Given the description of an element on the screen output the (x, y) to click on. 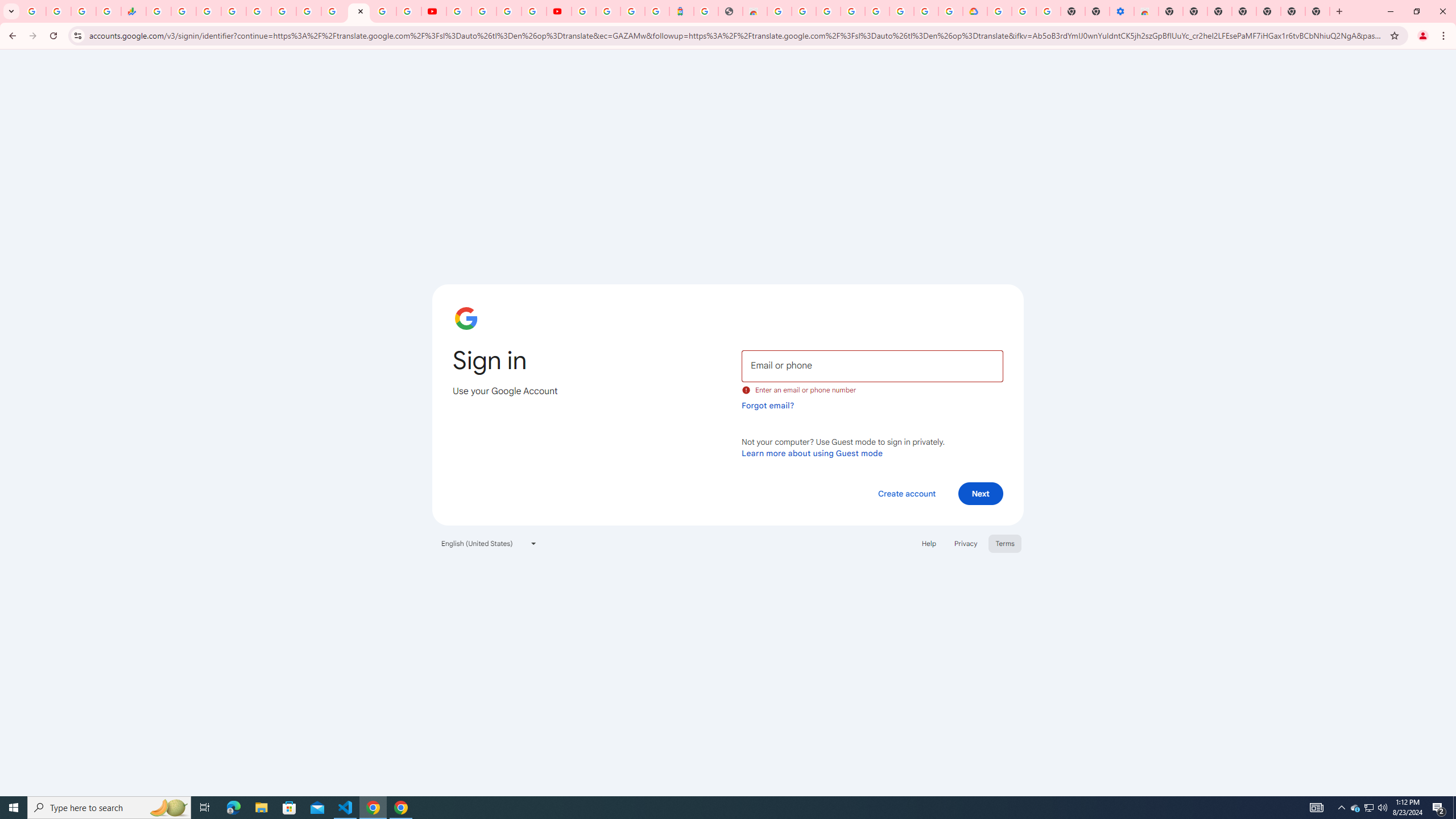
Google Account Help (483, 11)
YouTube (433, 11)
Learn more about using Guest mode (812, 452)
Google Account Help (852, 11)
Create account (905, 493)
Sign in - Google Accounts (925, 11)
Chrome Web Store - Household (754, 11)
